Given the description of an element on the screen output the (x, y) to click on. 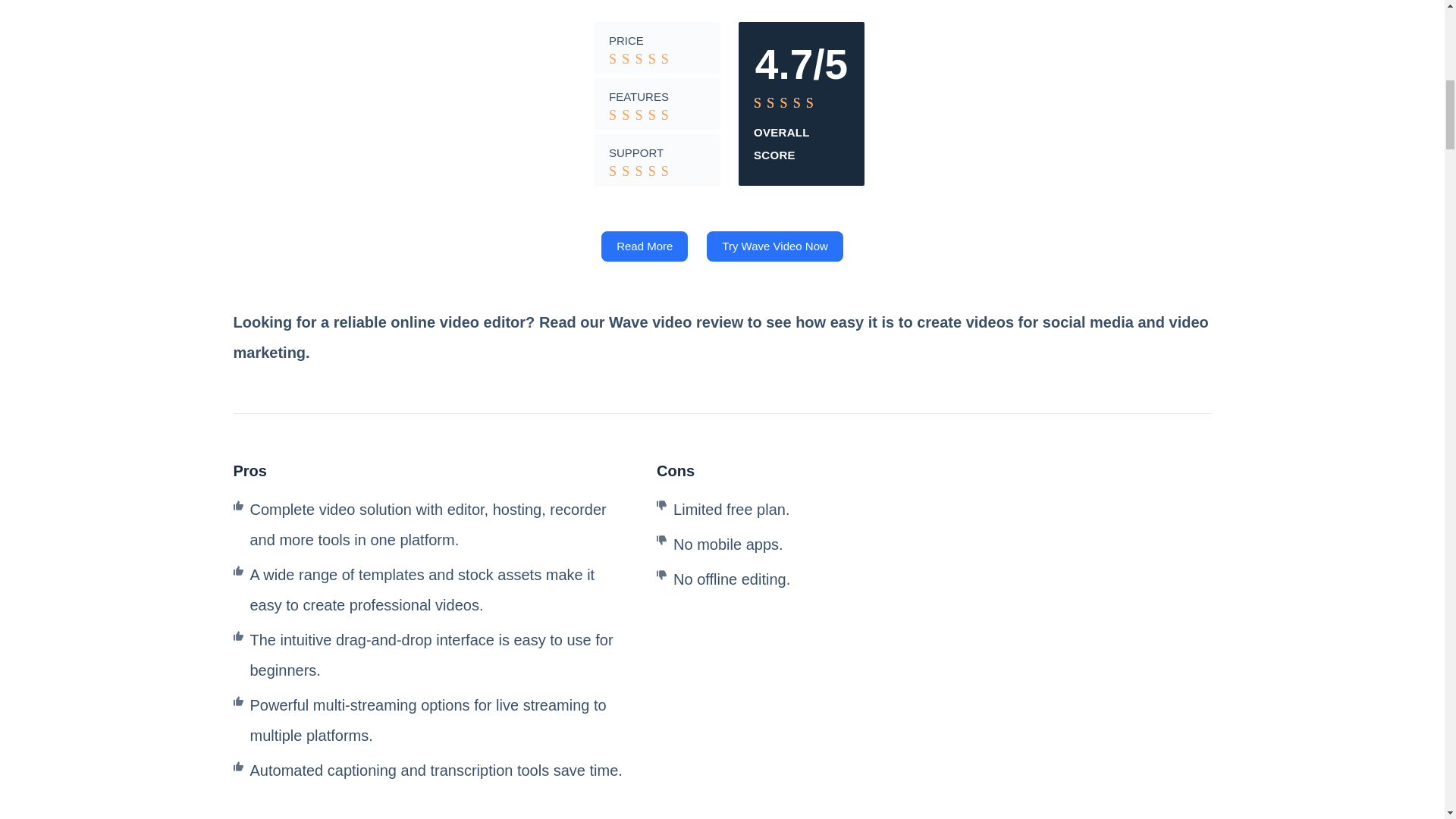
Try Wave Video Now (774, 245)
Read More (644, 245)
